Given the description of an element on the screen output the (x, y) to click on. 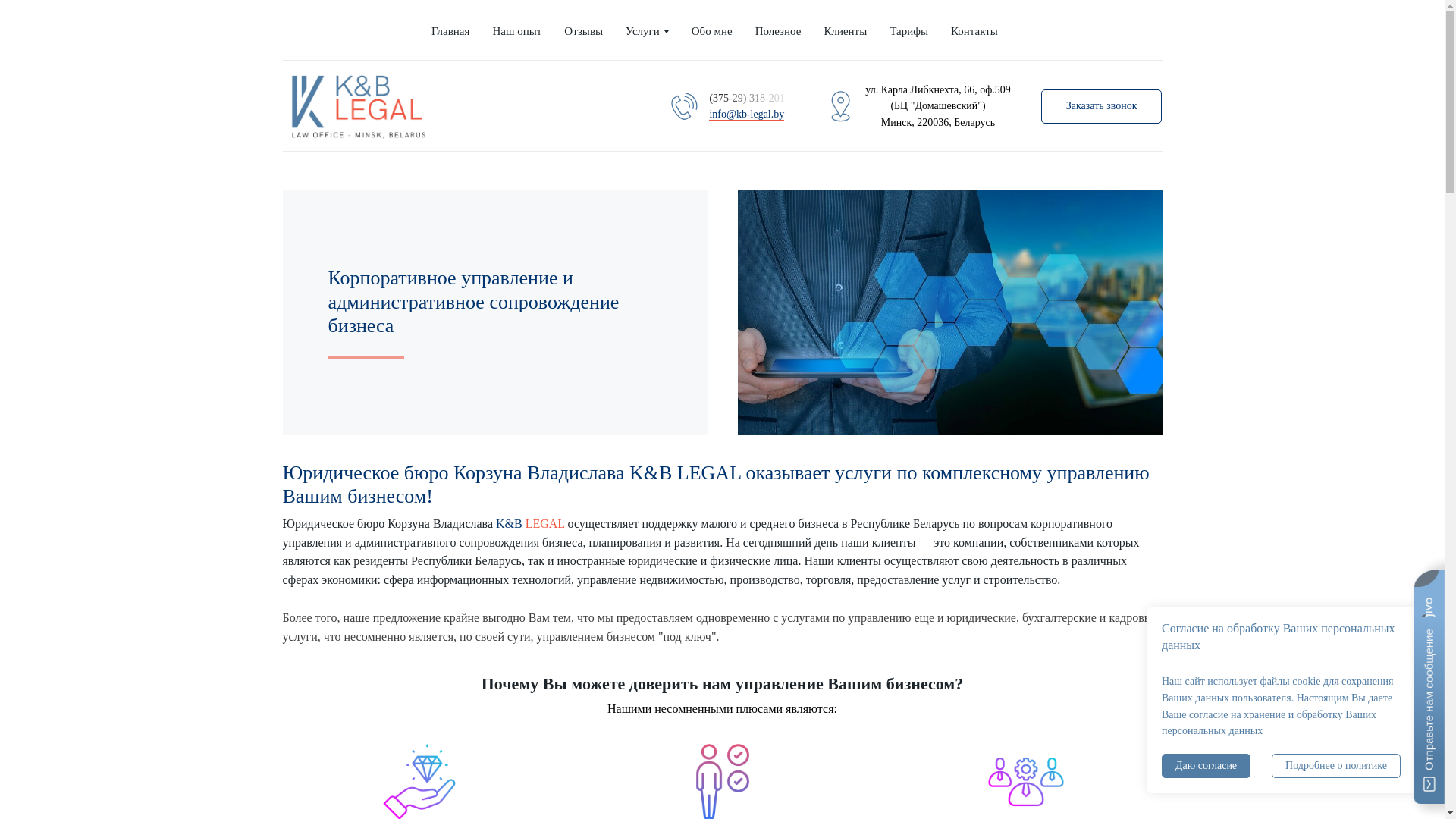
info@kb-legal.by Element type: text (746, 114)
(375-29) 318-201- Element type: text (751, 97)
